Given the description of an element on the screen output the (x, y) to click on. 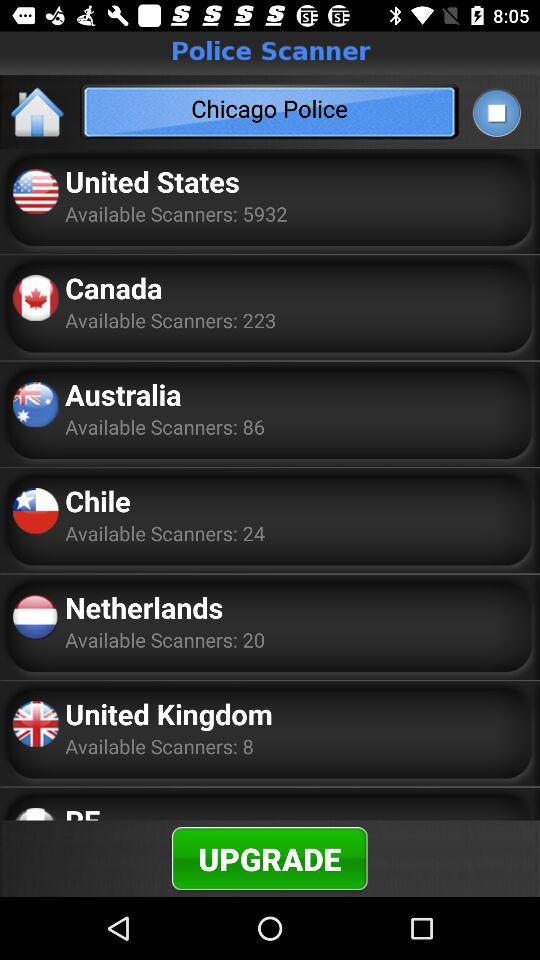
stop scanning (496, 111)
